Given the description of an element on the screen output the (x, y) to click on. 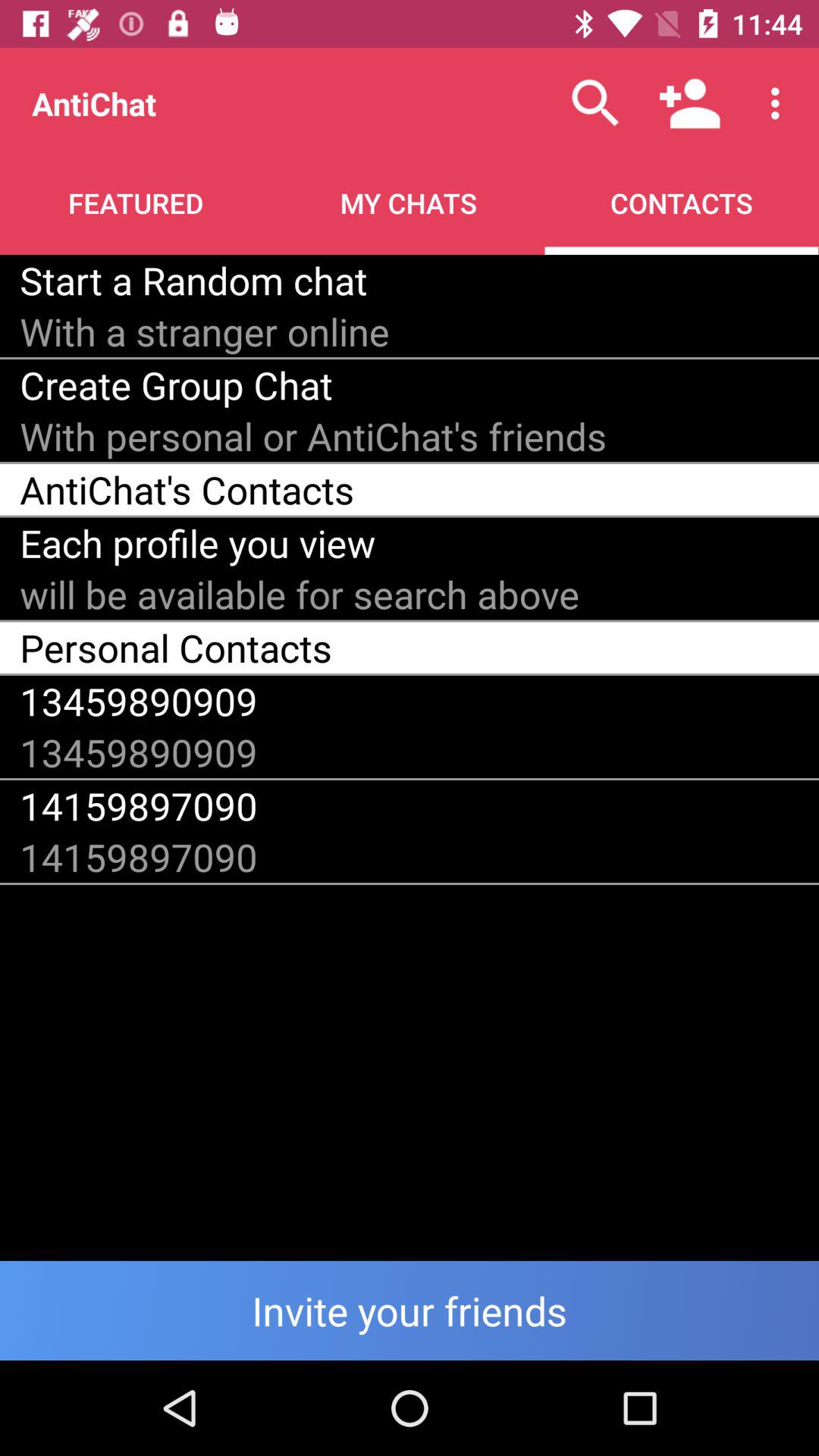
open the icon below each profile you (299, 593)
